Given the description of an element on the screen output the (x, y) to click on. 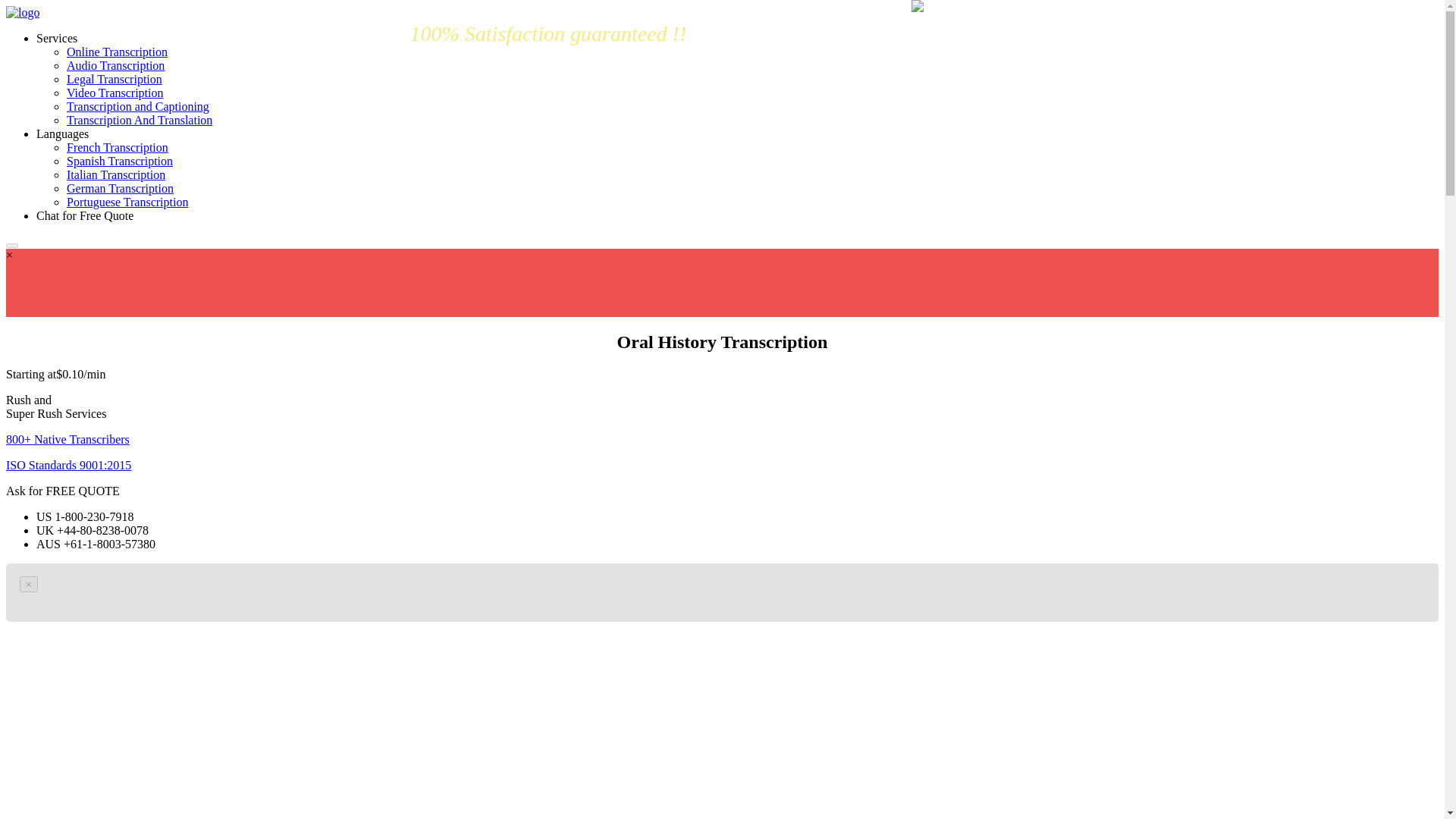
YouTube video player (232, 721)
Languages (62, 133)
Portuguese Transcription (126, 201)
Chat for Free Quote (84, 215)
Legal Transcription (113, 78)
Italian Transcription (115, 174)
Transcription And Translation (139, 119)
Transcription and Captioning (137, 106)
Audio Transcription (115, 65)
German Transcription (119, 187)
Services (56, 38)
Ask for FREE QUOTE (62, 490)
Online Transcription (116, 51)
Video Transcription (114, 92)
Spanish Transcription (119, 160)
